Given the description of an element on the screen output the (x, y) to click on. 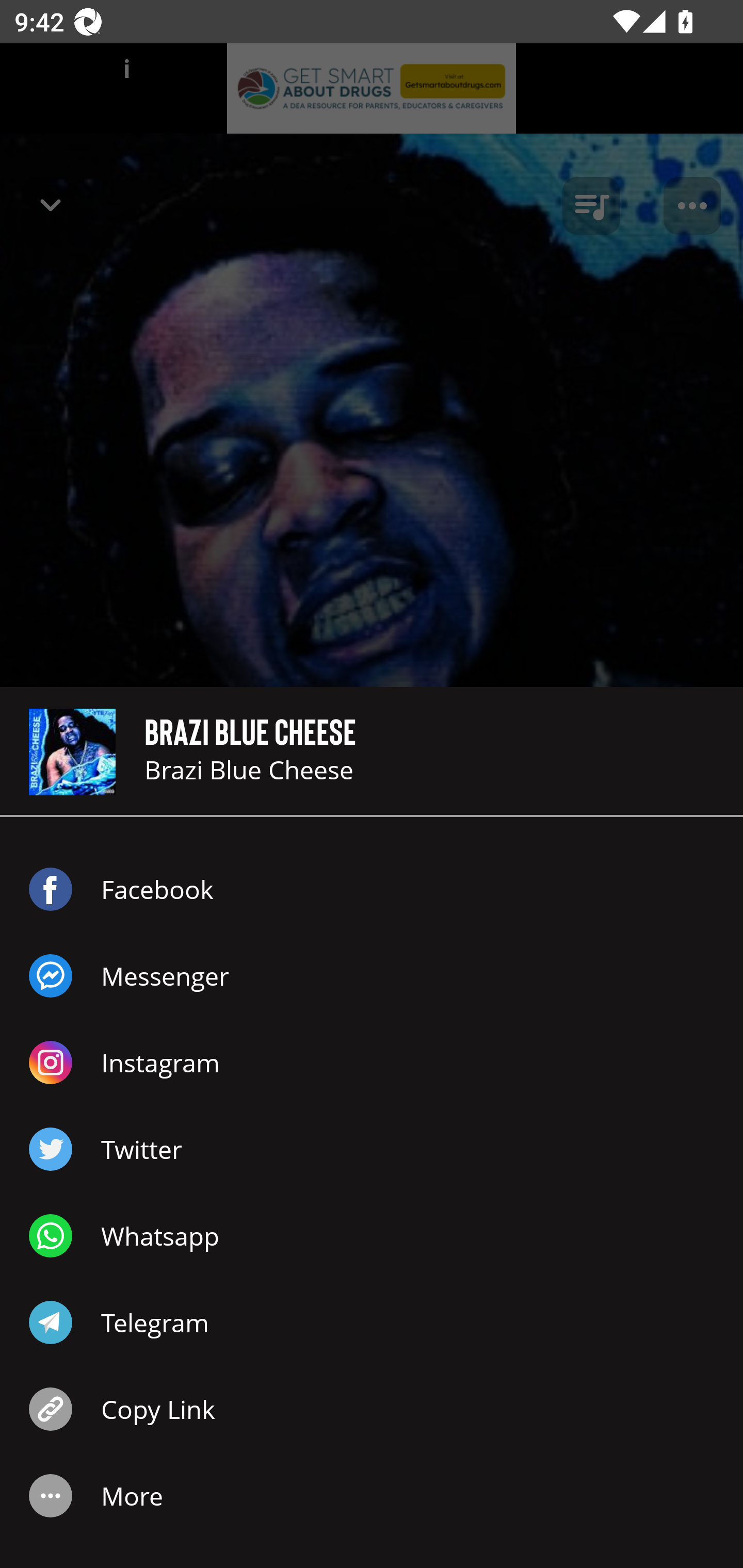
Facebook (371, 888)
Messenger (371, 975)
Instagram (371, 1062)
Twitter (371, 1149)
Whatsapp (371, 1236)
Telegram (371, 1322)
Copy Link (371, 1408)
More (371, 1495)
